Given the description of an element on the screen output the (x, y) to click on. 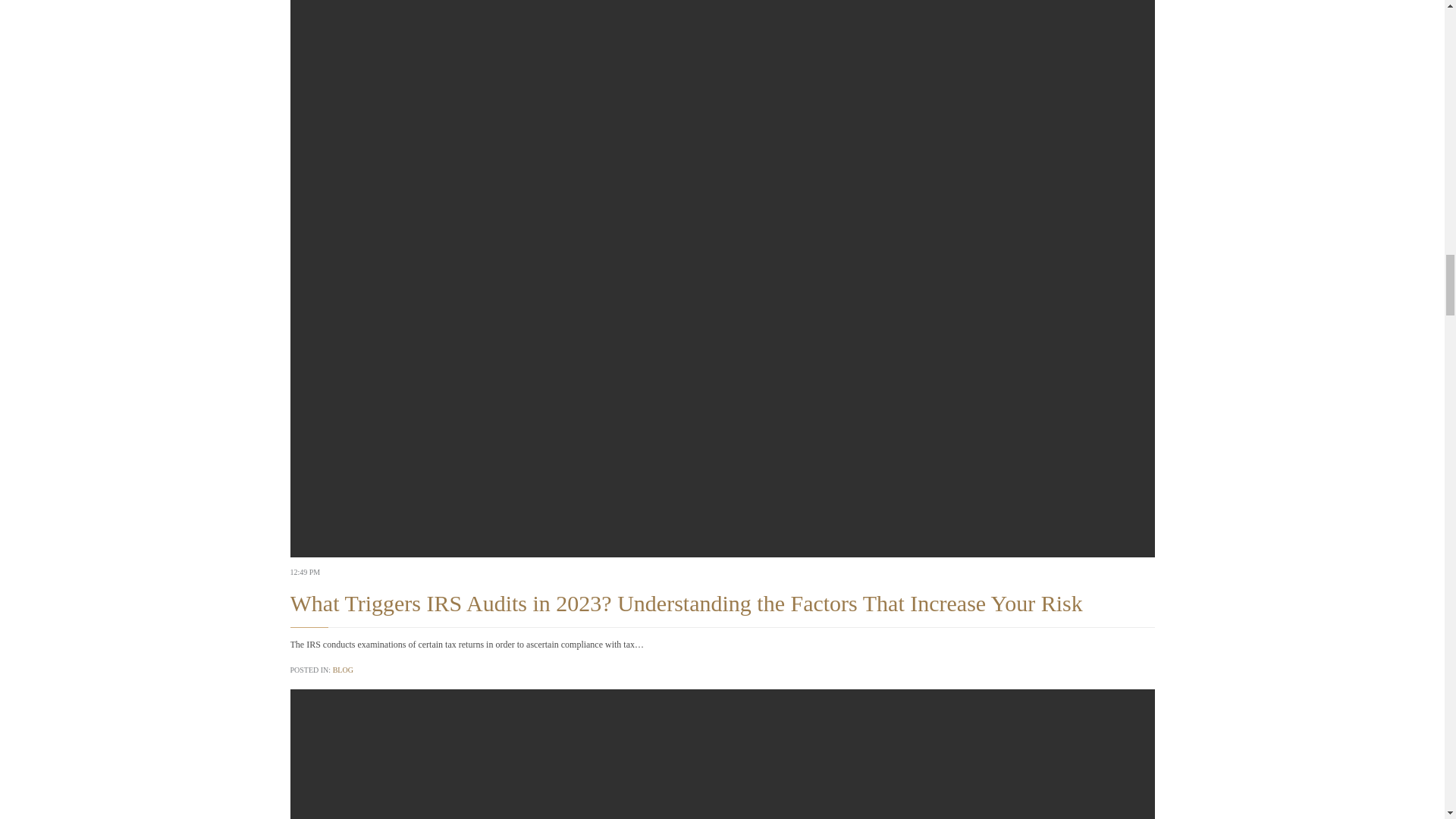
BLOG (343, 669)
What is Considered Taxable and Non-Taxable Income? (721, 754)
